Given the description of an element on the screen output the (x, y) to click on. 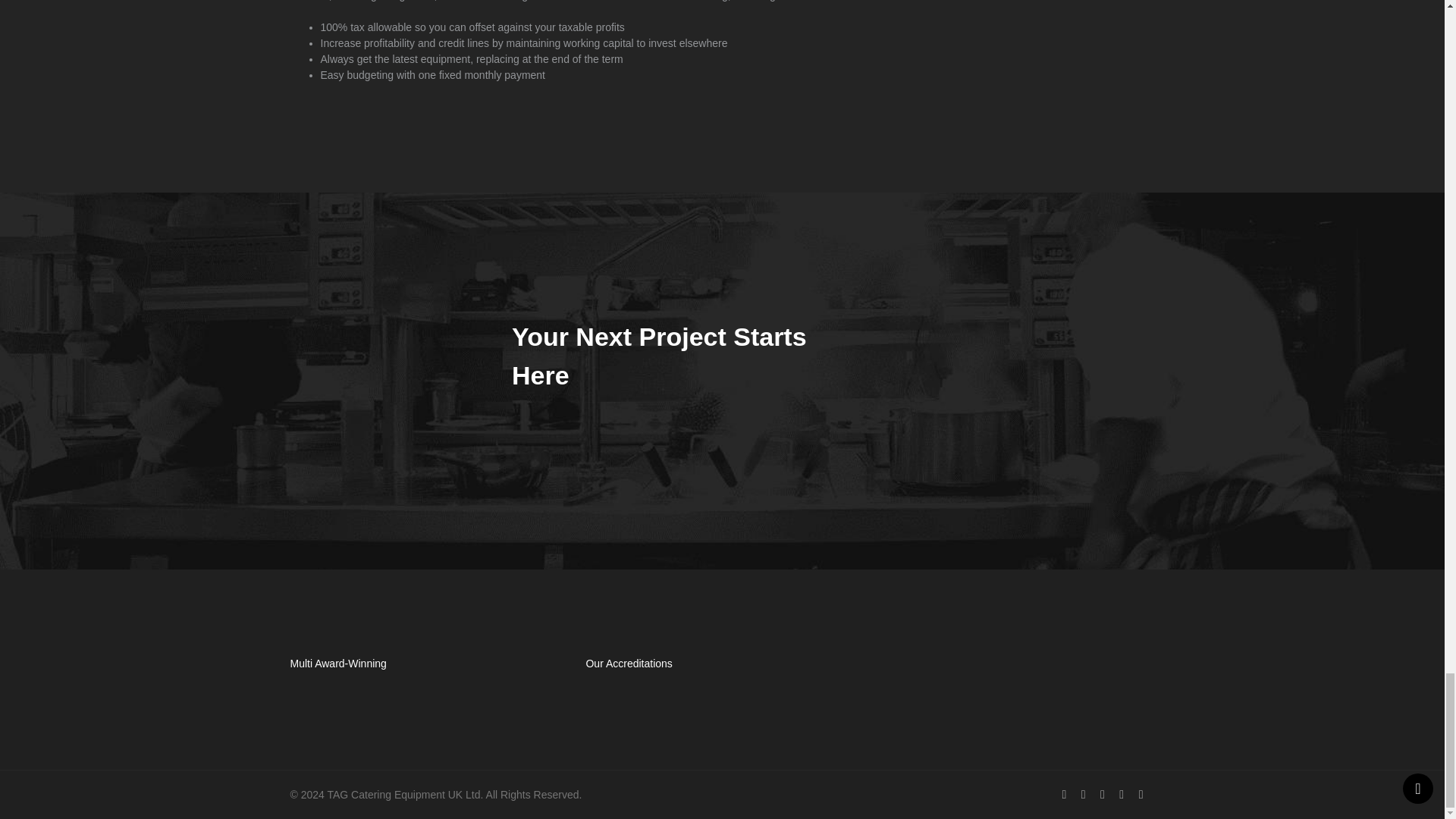
Our Accreditations (722, 707)
